Given the description of an element on the screen output the (x, y) to click on. 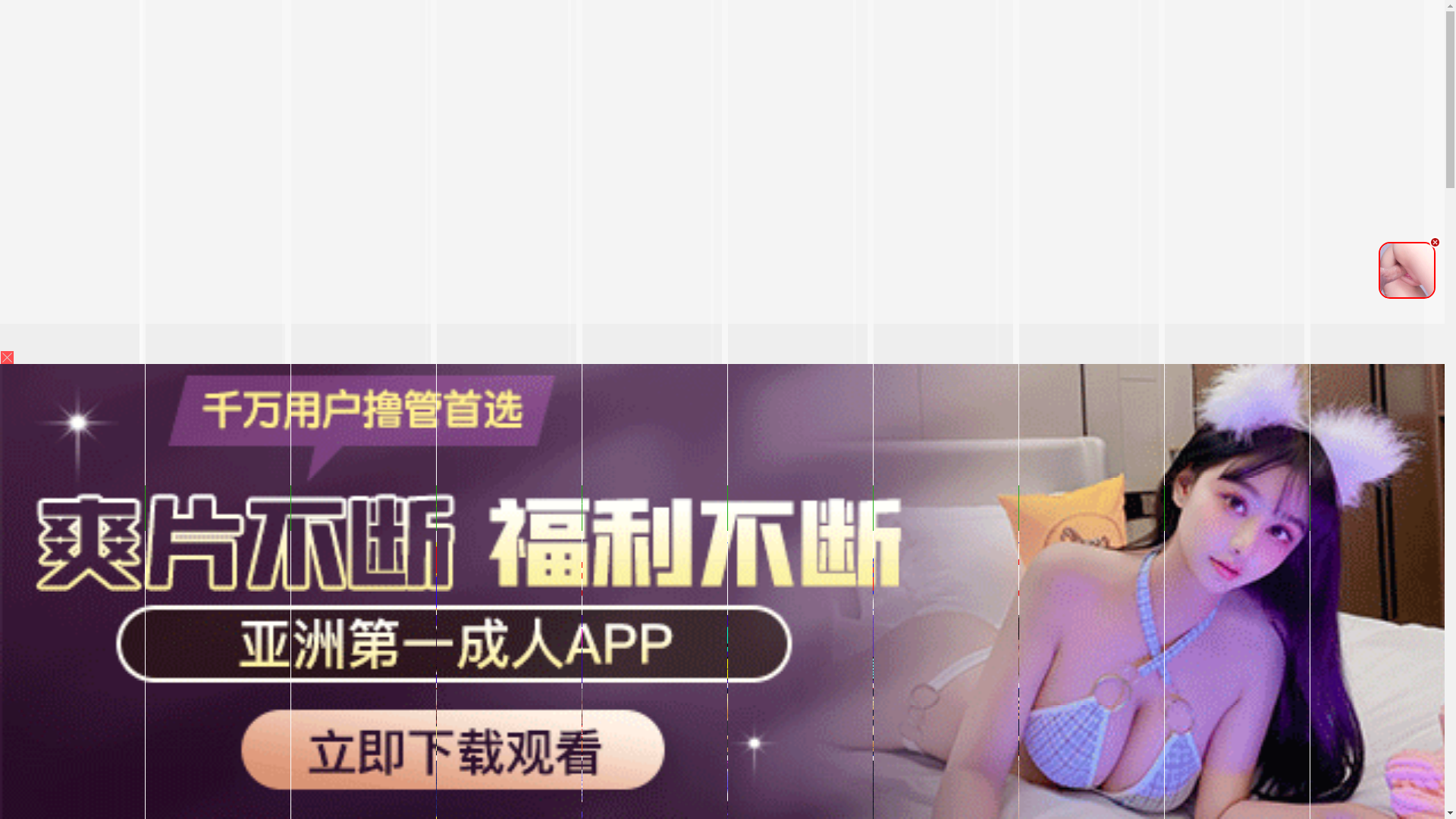
1718sm.Com Element type: text (412, 503)
www.xmkk5.com Element type: text (693, 515)
